Given the description of an element on the screen output the (x, y) to click on. 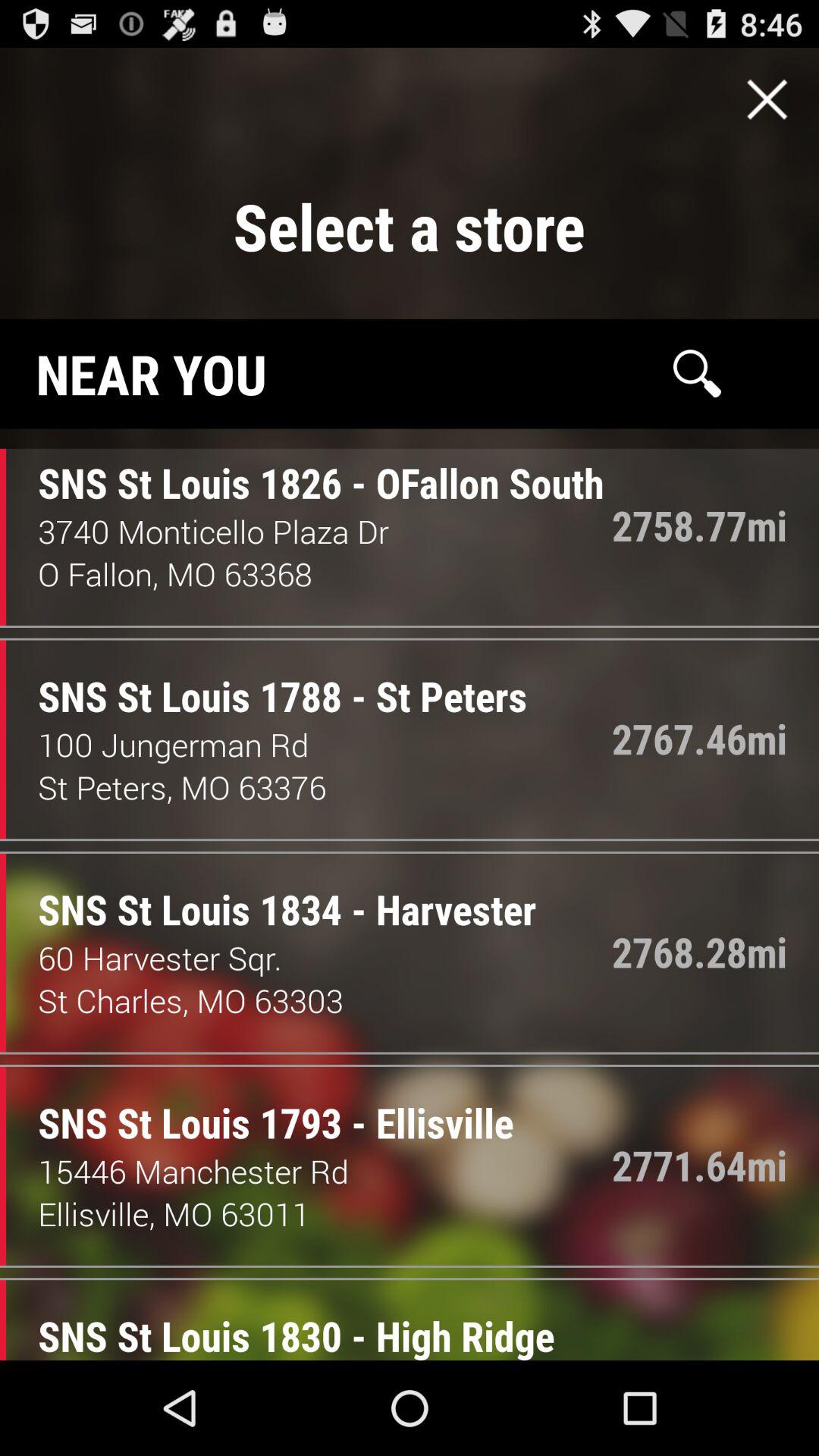
close button (767, 99)
